Given the description of an element on the screen output the (x, y) to click on. 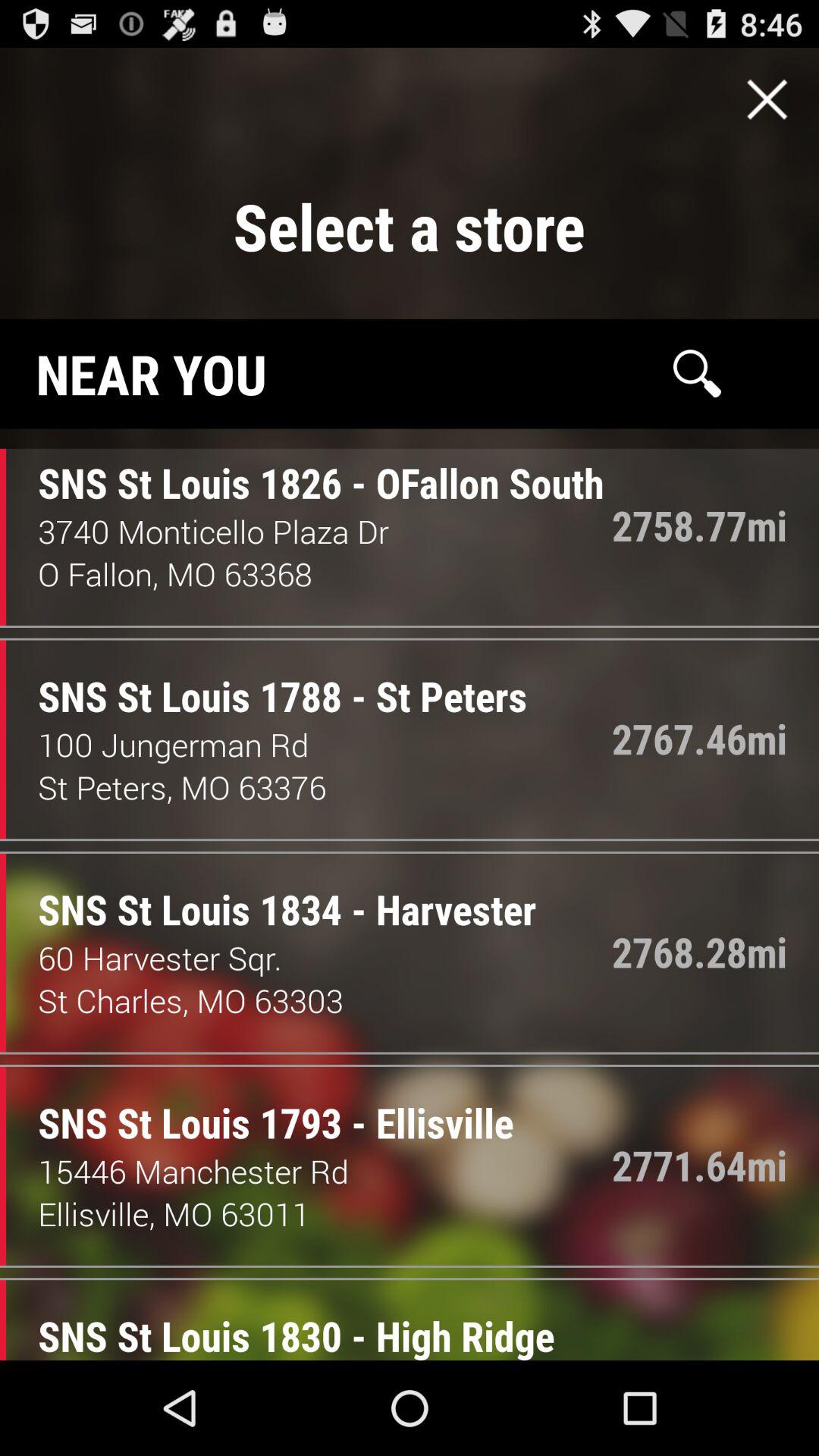
close button (767, 99)
